Given the description of an element on the screen output the (x, y) to click on. 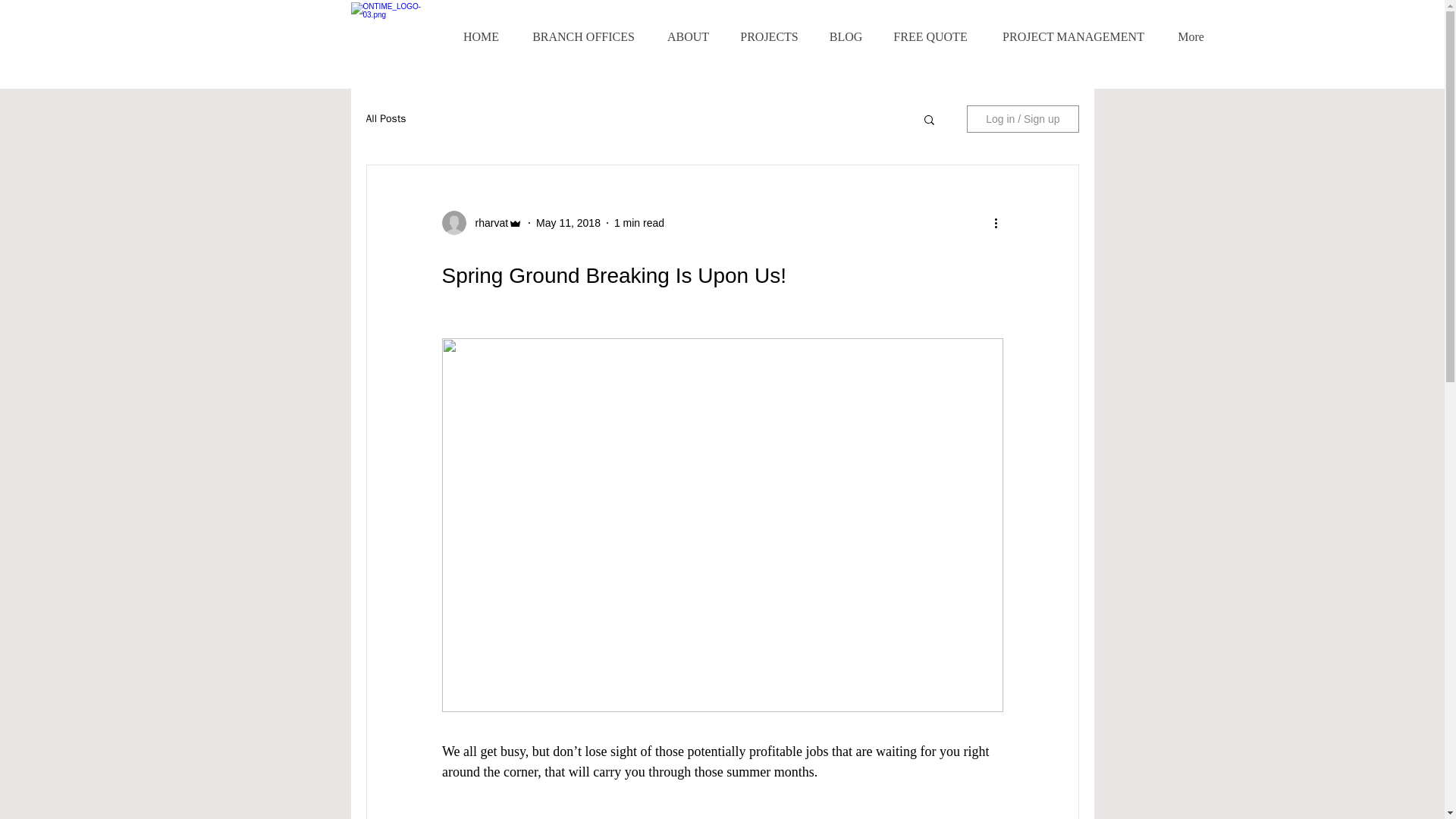
May 11, 2018 (567, 223)
PROJECT MANAGEMENT (1072, 36)
rharvat (486, 222)
ABOUT (687, 36)
1 min read (638, 223)
BRANCH OFFICES (582, 36)
FREE QUOTE (930, 36)
HOME (480, 36)
All Posts (385, 119)
PROJECTS (769, 36)
